Given the description of an element on the screen output the (x, y) to click on. 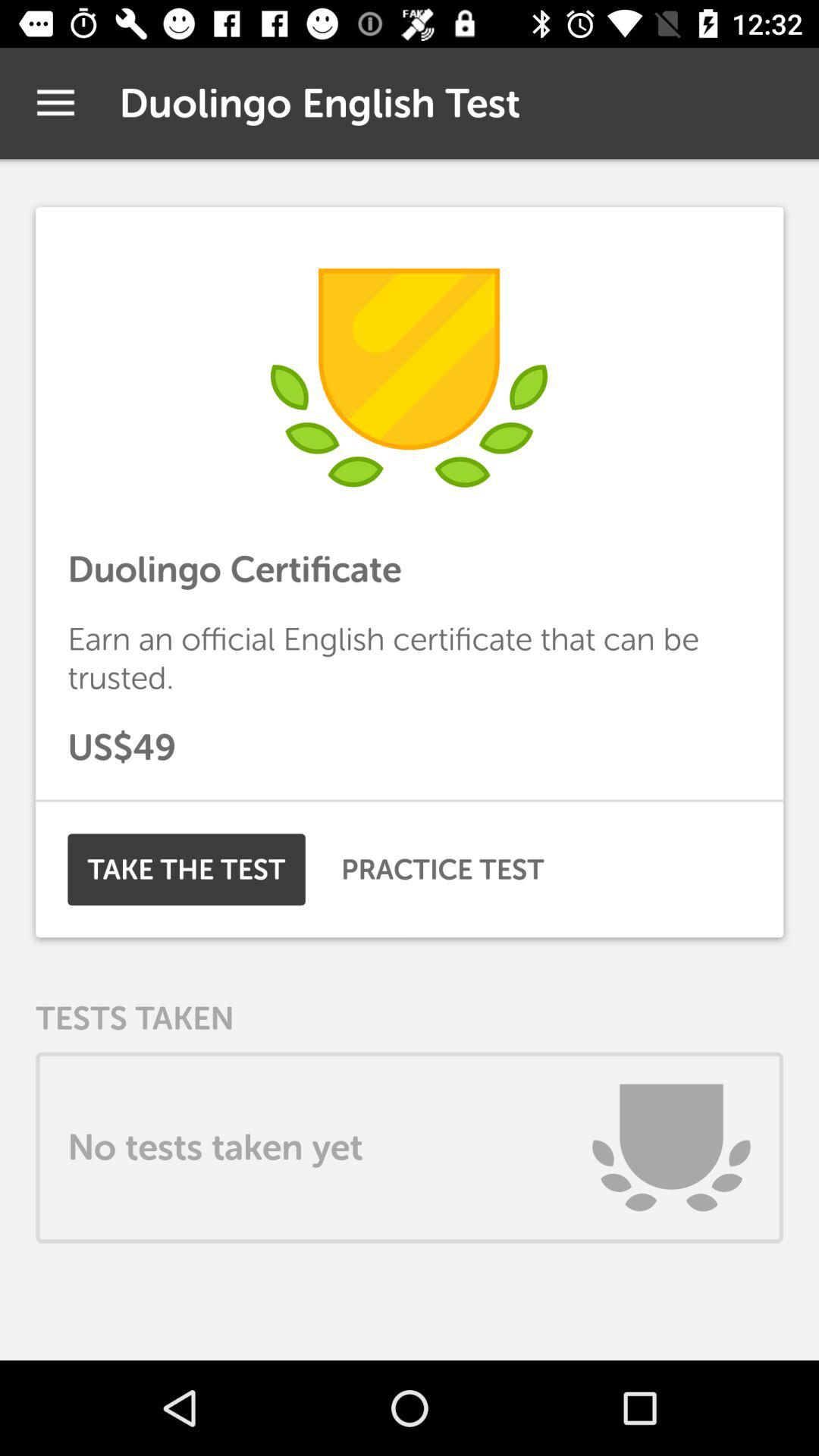
select the icon at the top left corner (55, 103)
